Given the description of an element on the screen output the (x, y) to click on. 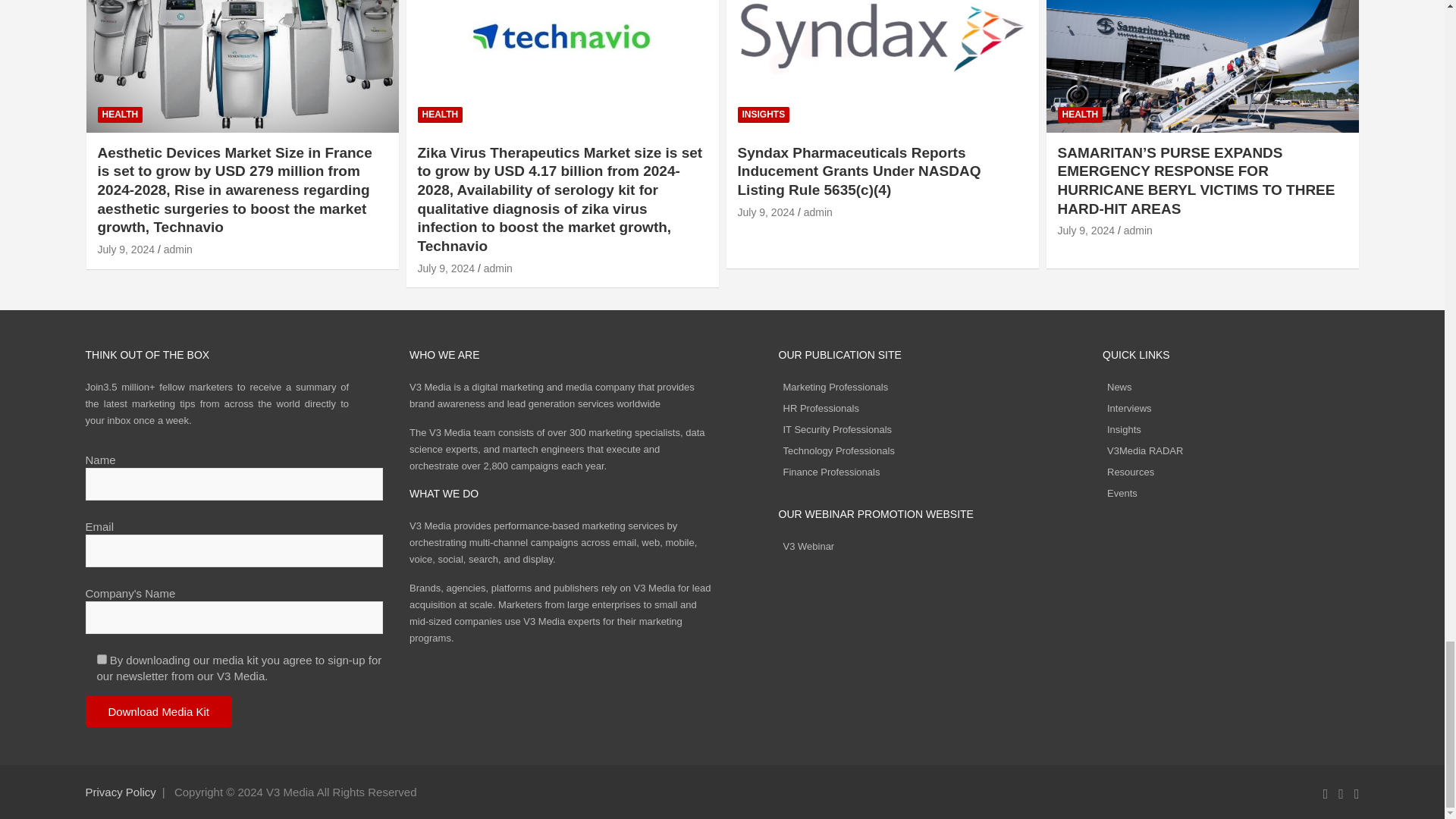
Download Media Kit (157, 711)
